Given the description of an element on the screen output the (x, y) to click on. 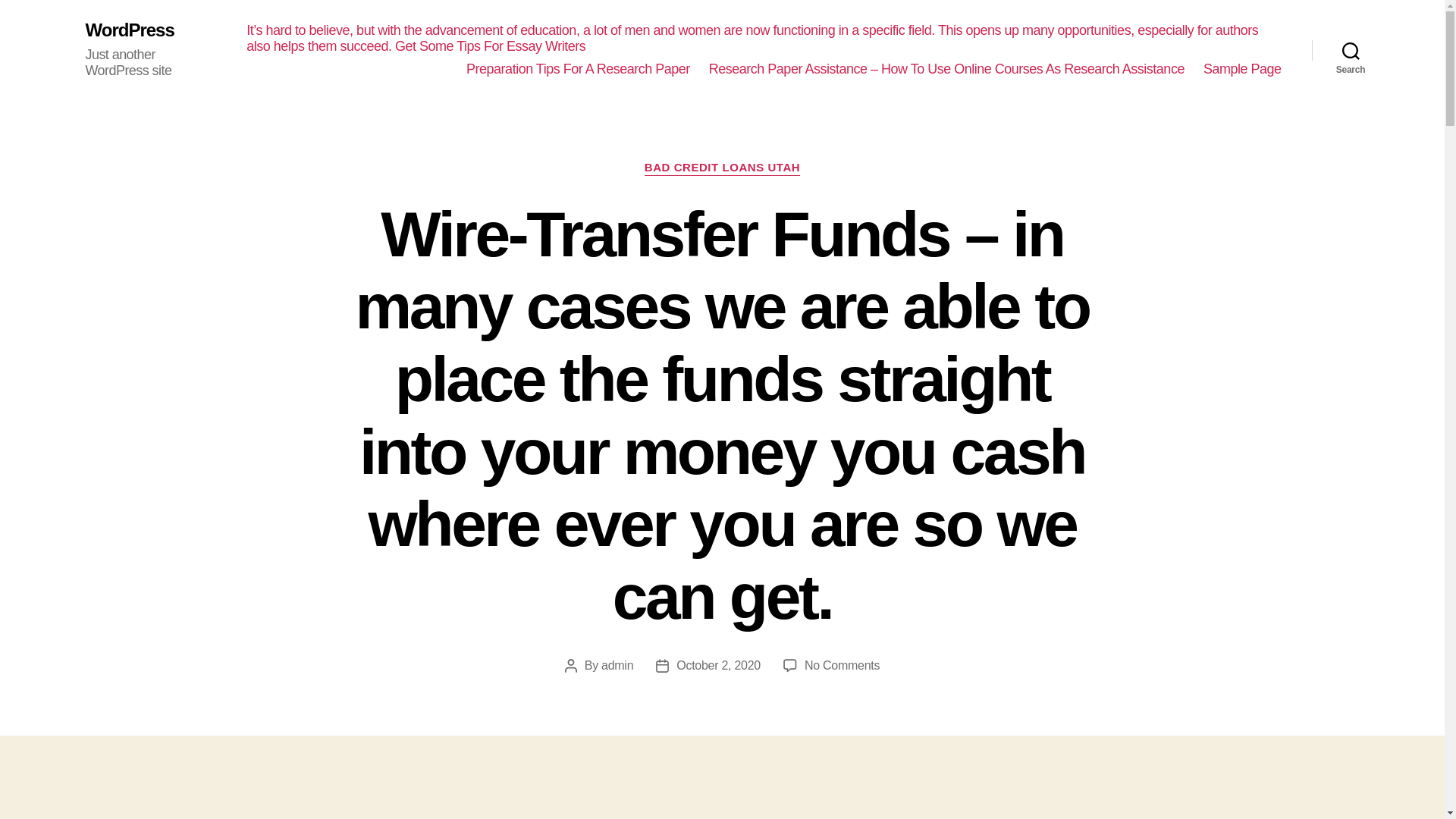
Sample Page (1242, 69)
admin (617, 665)
October 2, 2020 (718, 665)
BAD CREDIT LOANS UTAH (722, 168)
Search (1350, 49)
WordPress (128, 30)
Preparation Tips For A Research Paper (577, 69)
